Given the description of an element on the screen output the (x, y) to click on. 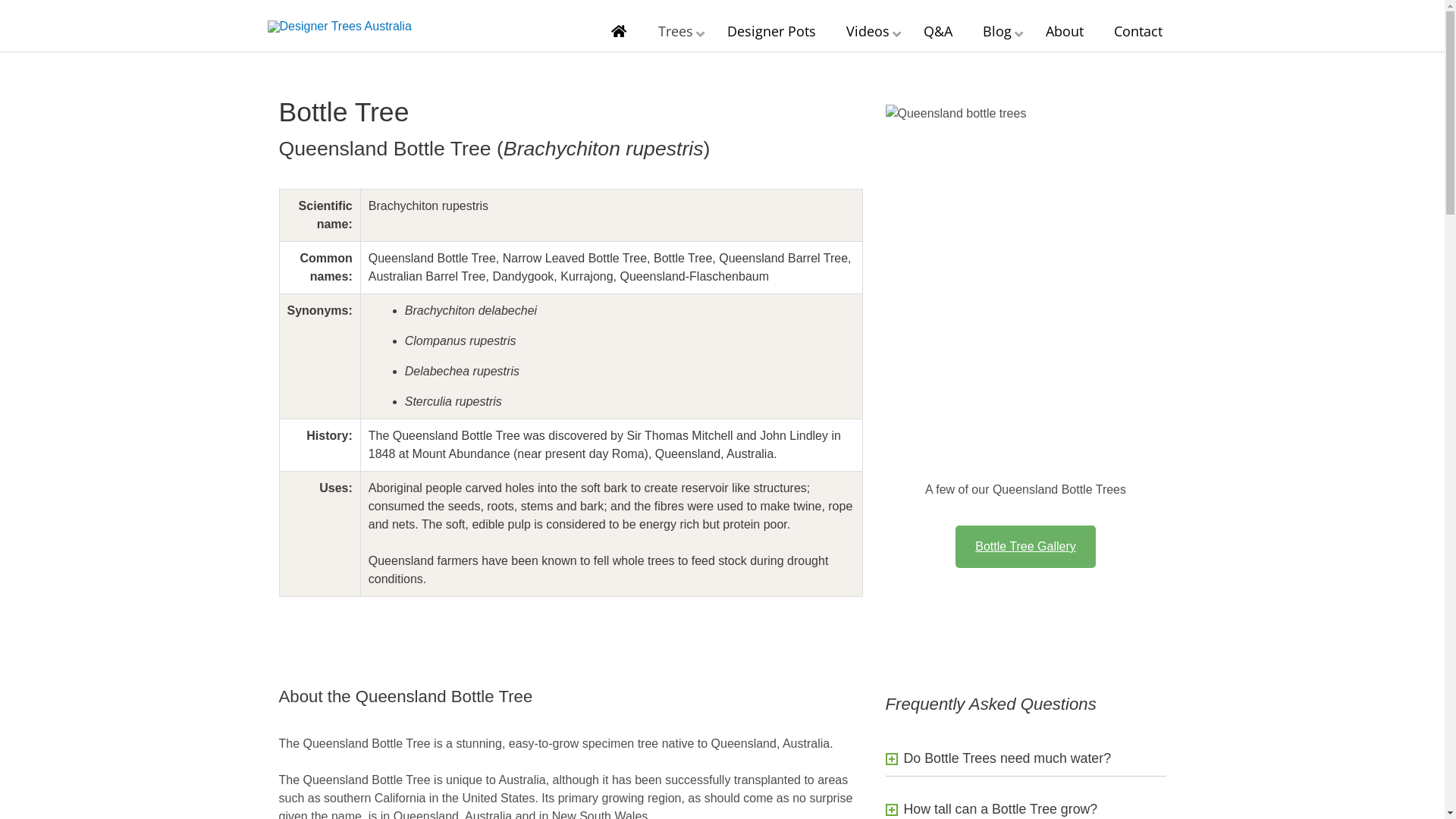
Contact Element type: text (1137, 31)
Blog Element type: text (998, 31)
Bottle Tree Gallery Element type: text (1025, 546)
About Element type: text (1063, 31)
Designer Pots Element type: text (770, 31)
Home Element type: hover (618, 31)
Q&A Element type: text (937, 31)
Videos Element type: text (869, 31)
